Given the description of an element on the screen output the (x, y) to click on. 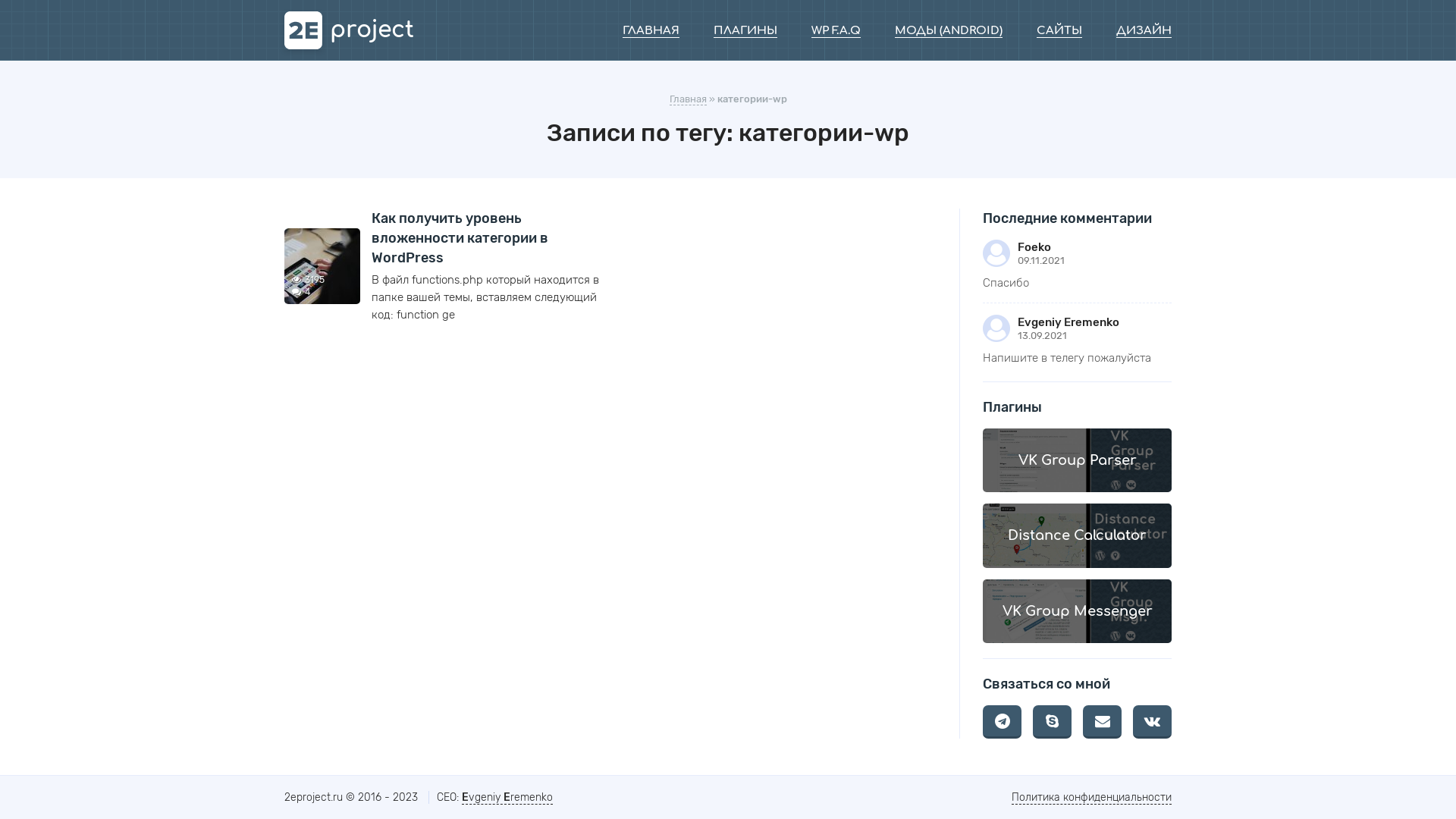
Evgeniy Eremenko Element type: text (506, 797)
VK Group Parser Element type: text (1076, 460)
WP F.A.Q Element type: text (835, 30)
VK Group Messenger Element type: text (1076, 611)
Distance Calculator Element type: text (1076, 535)
project Element type: text (349, 30)
